Given the description of an element on the screen output the (x, y) to click on. 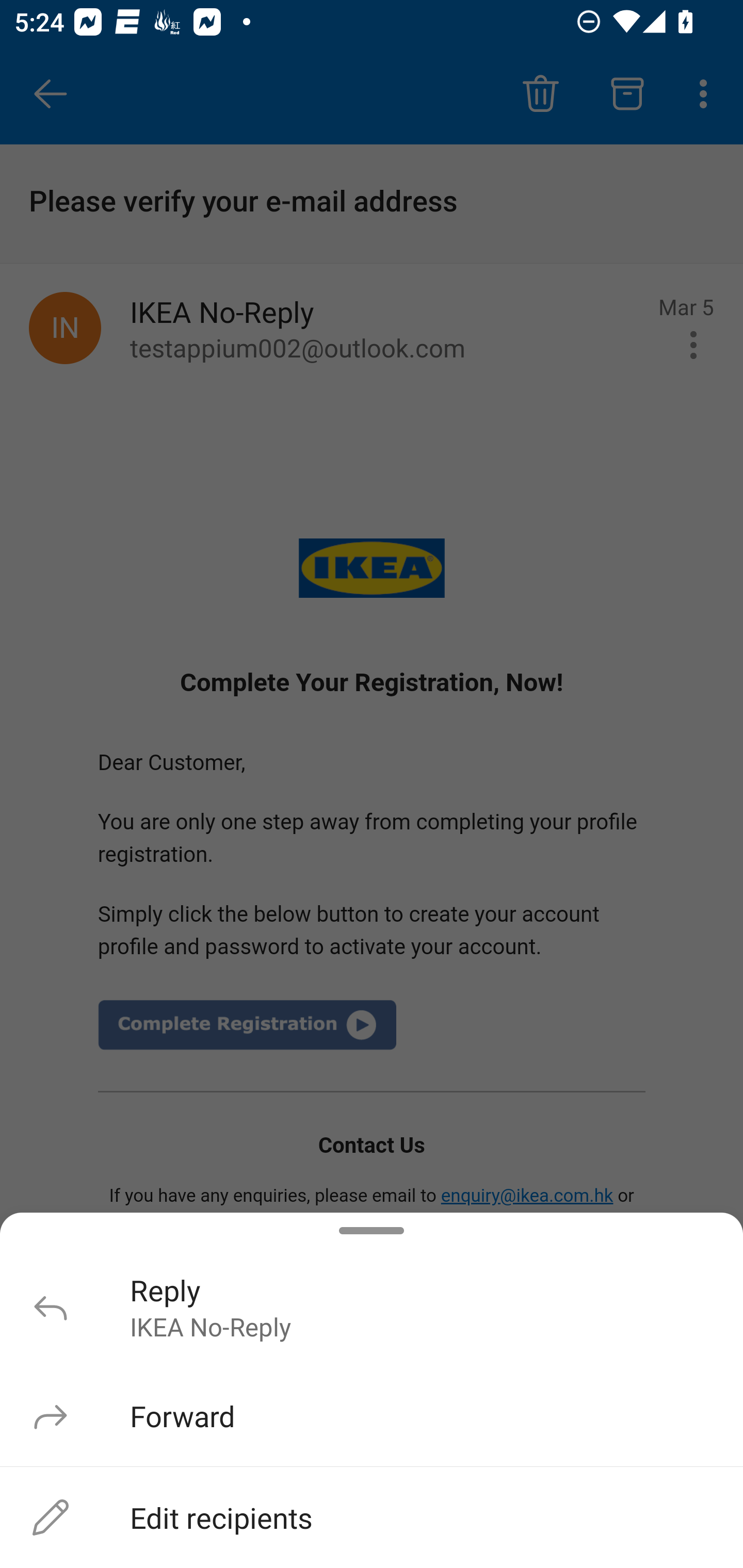
Reply Reply To IKEA No-Reply IKEA No-Reply   (371, 1306)
Forward (371, 1415)
Edit recipients (371, 1517)
